Given the description of an element on the screen output the (x, y) to click on. 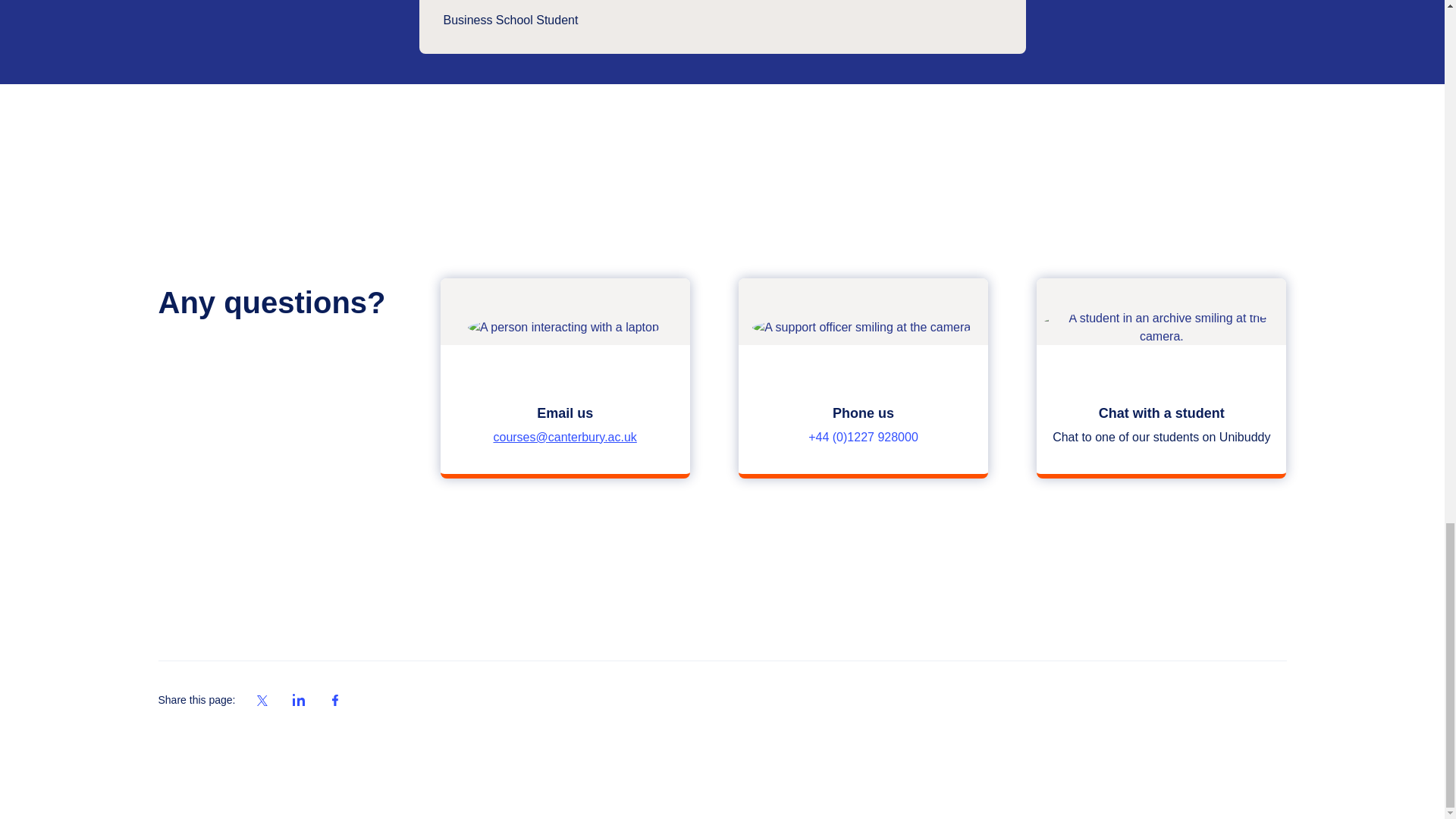
Facebook (334, 700)
X (1160, 378)
LinkedIn (261, 700)
